Given the description of an element on the screen output the (x, y) to click on. 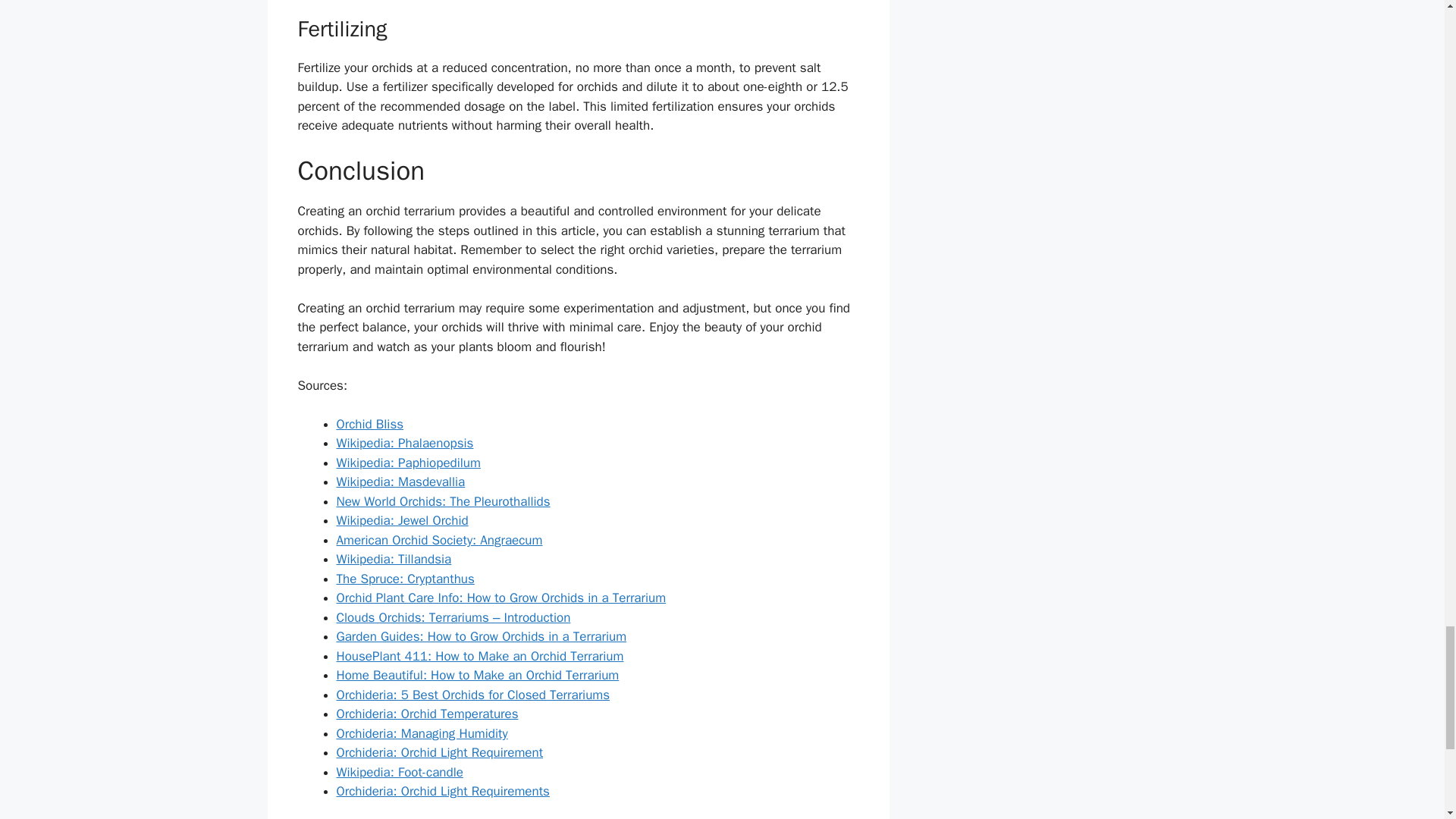
Orchid Plant Care Info: How to Grow Orchids in a Terrarium (501, 597)
Wikipedia: Jewel Orchid (402, 520)
Wikipedia: Paphiopedilum (408, 462)
HousePlant 411: How to Make an Orchid Terrarium (480, 656)
American Orchid Society: Angraecum (439, 539)
Home Beautiful: How to Make an Orchid Terrarium (478, 675)
Orchideria: 5 Best Orchids for Closed Terrariums (473, 694)
Wikipedia: Phalaenopsis (405, 442)
The Spruce: Cryptanthus (405, 578)
Wikipedia: Tillandsia (393, 559)
